Given the description of an element on the screen output the (x, y) to click on. 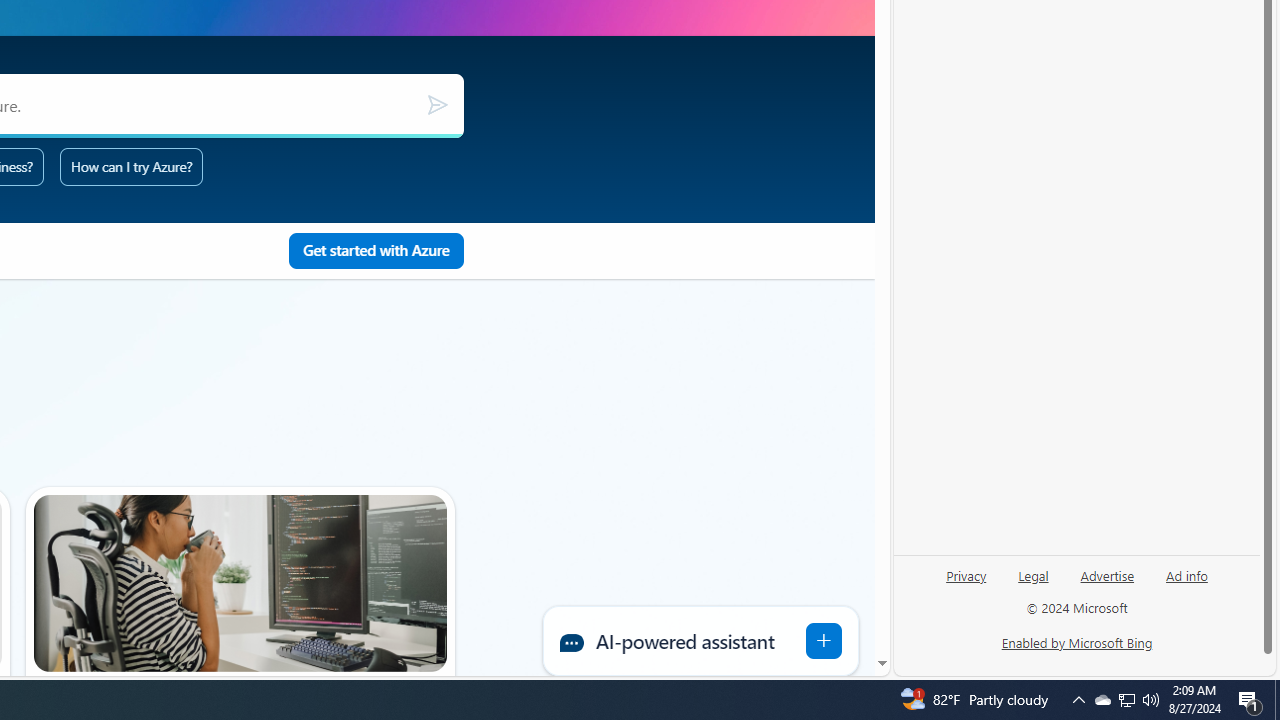
How can I try Azure? (131, 165)
Submit (436, 105)
How can I try Azure? (131, 165)
Get started with Pay as you go using Azure (376, 251)
AI-powered assistant floating badge icon (824, 640)
